Given the description of an element on the screen output the (x, y) to click on. 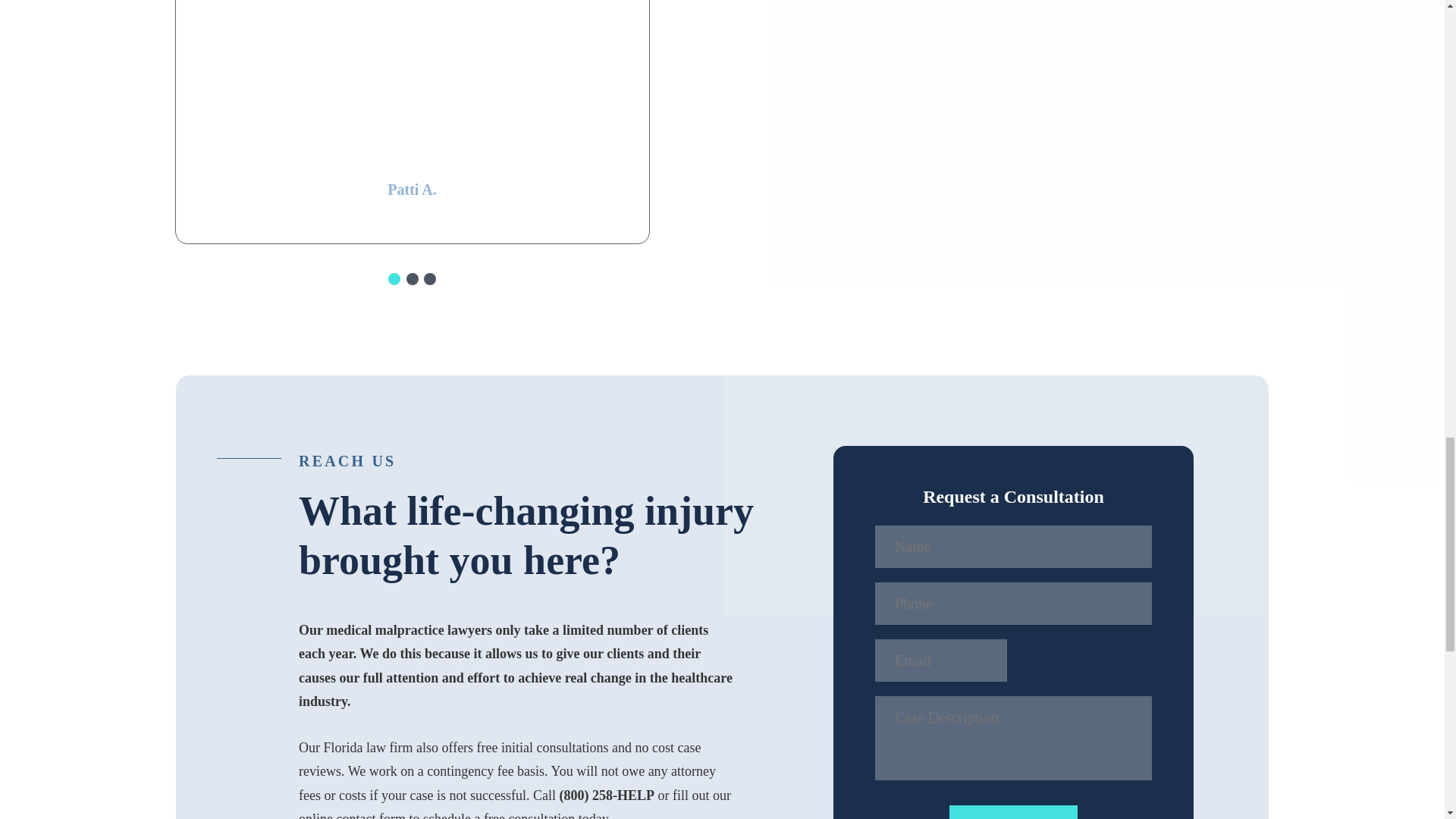
Submit (1013, 812)
Submit (1013, 812)
